Given the description of an element on the screen output the (x, y) to click on. 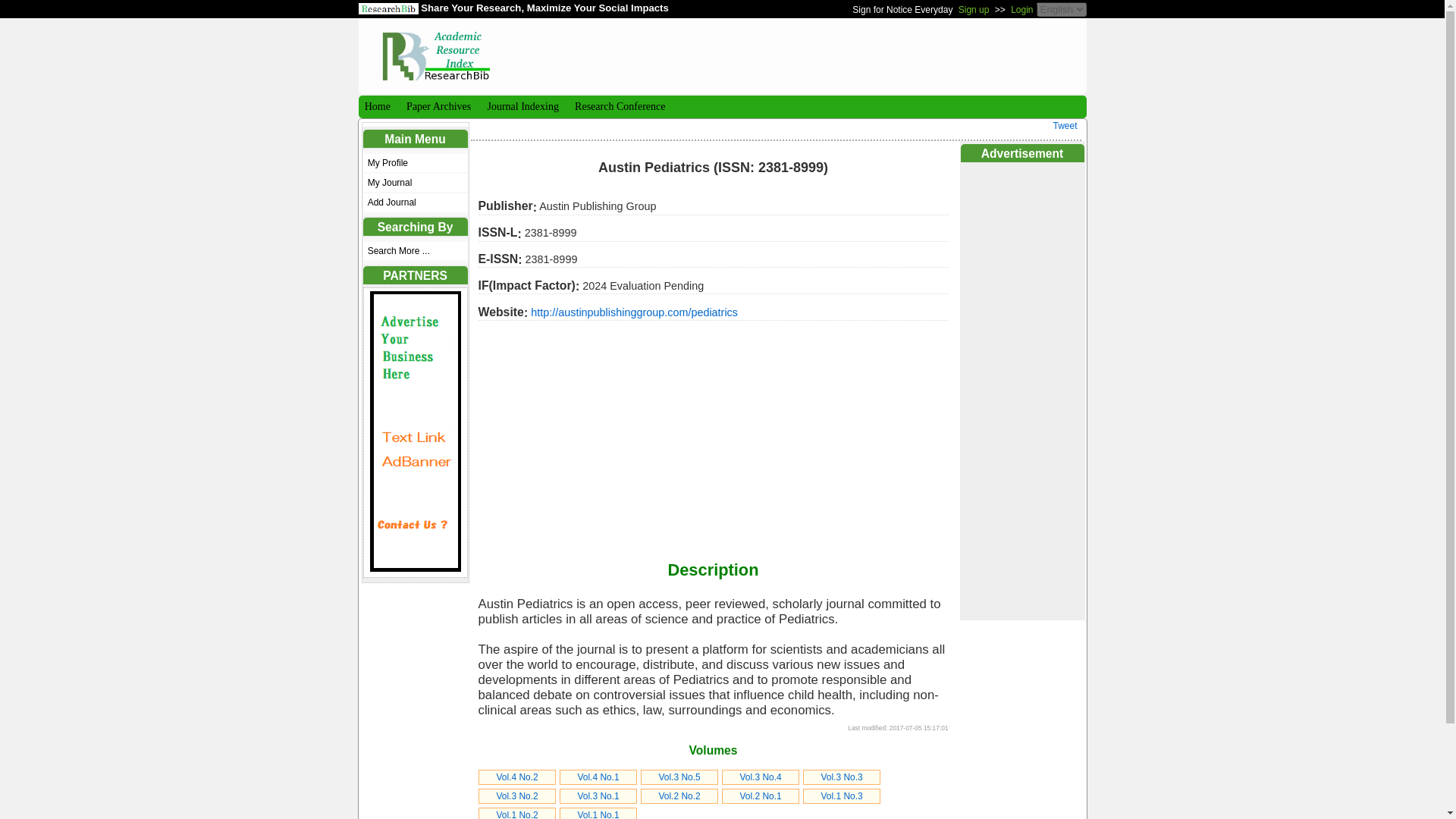
Home (375, 106)
Vol.3 No.2 (516, 796)
Sign up (973, 9)
Vol.3 No.1 (597, 796)
Vol.4 No.2 (516, 777)
My Profile (414, 162)
Vol.1 No.2 (516, 814)
Journal Indexing (521, 106)
Advertisement (803, 55)
Vol.1 No.3 (841, 796)
Vol.1 No.1 (597, 814)
Advertisement (712, 437)
Research Bible (435, 49)
Research Conference (619, 106)
Vol.3 No.5 (679, 777)
